Given the description of an element on the screen output the (x, y) to click on. 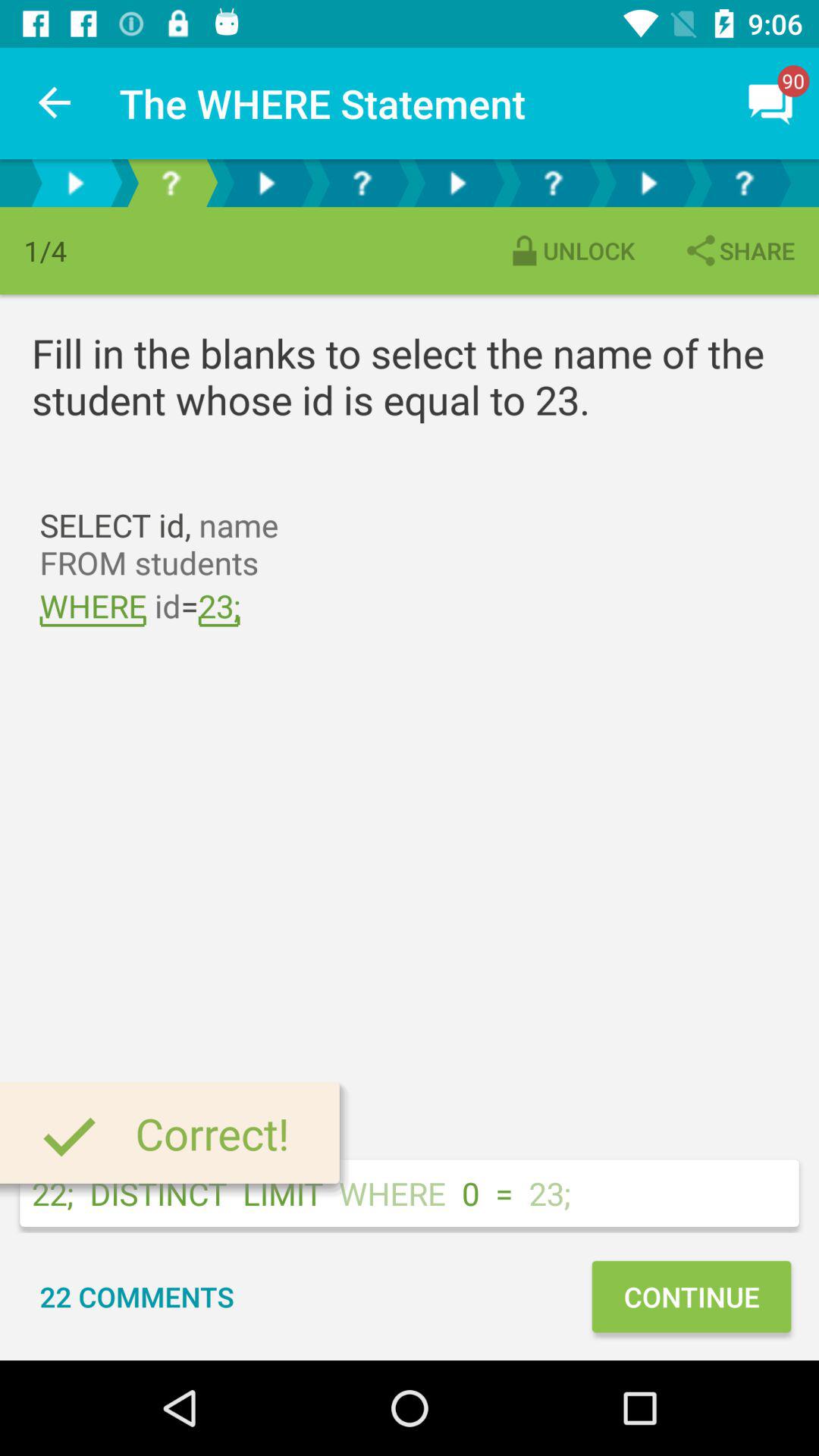
press the share icon (738, 250)
